Given the description of an element on the screen output the (x, y) to click on. 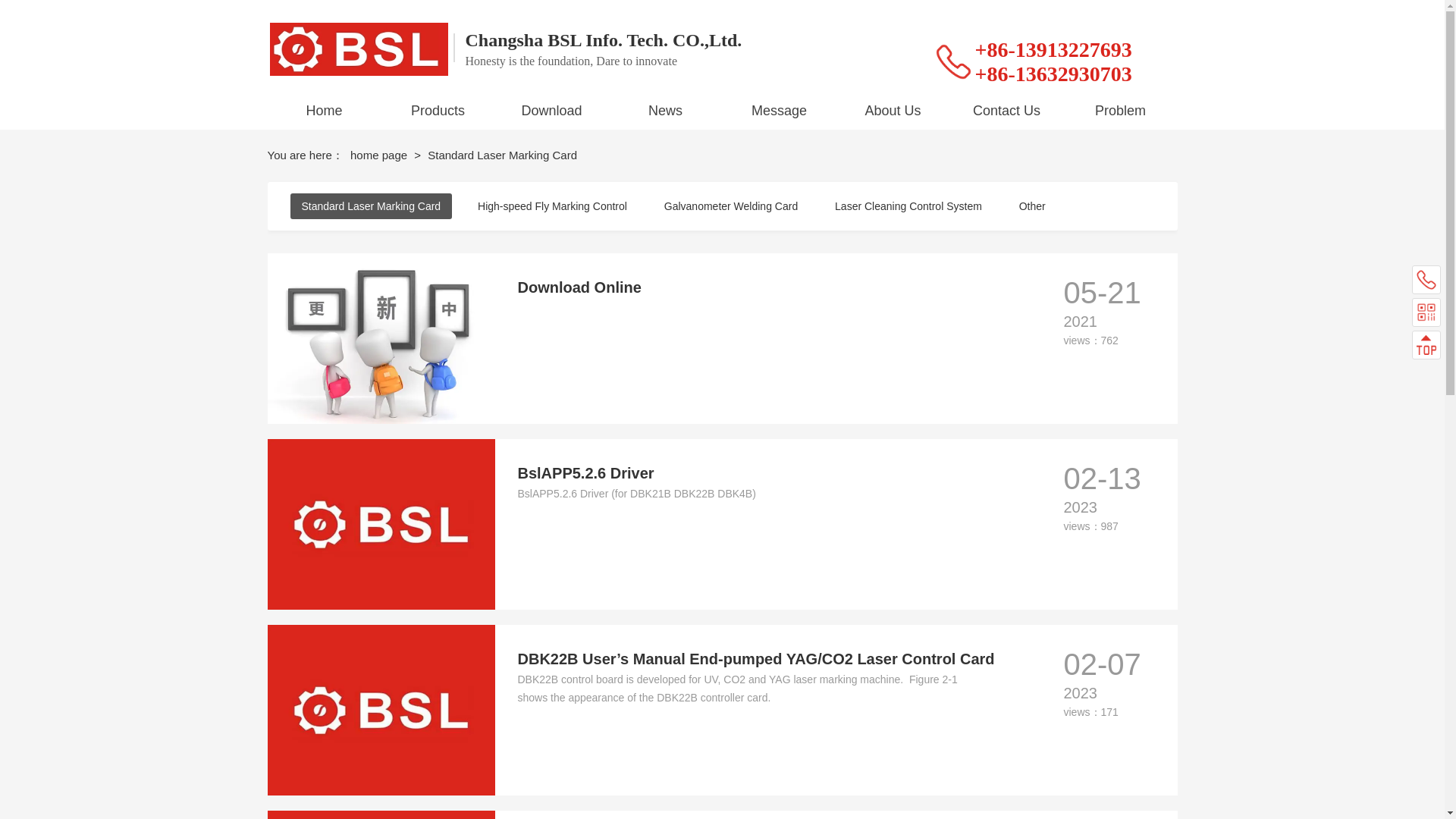
Standard Laser Marking Card (370, 206)
Laser Cleaning Control System (908, 206)
High-speed Fly Marking Control (552, 206)
Products (438, 110)
Contact Us (1006, 110)
Problem (1120, 110)
Other (1032, 206)
About Us (893, 110)
Download (551, 110)
